Given the description of an element on the screen output the (x, y) to click on. 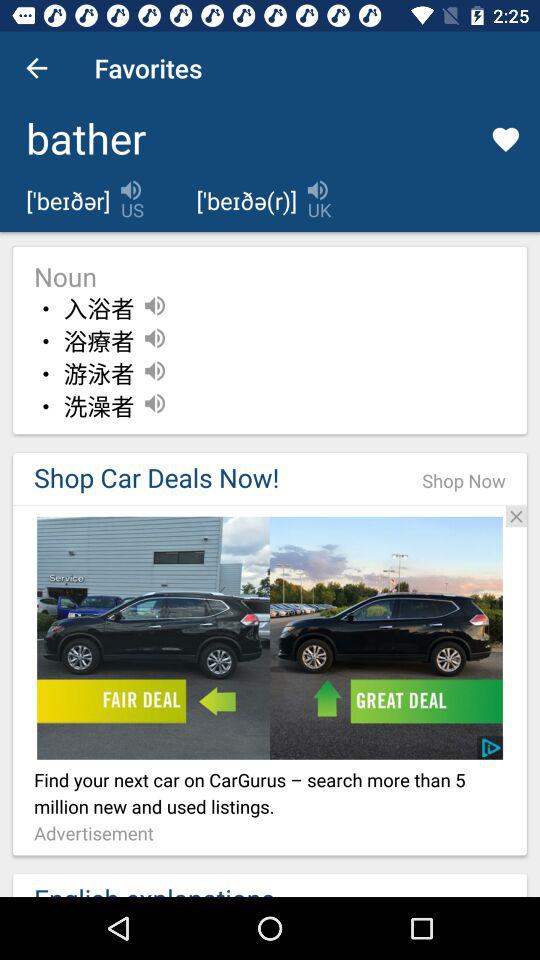
turn off the item to the left of shop now item (207, 478)
